Given the description of an element on the screen output the (x, y) to click on. 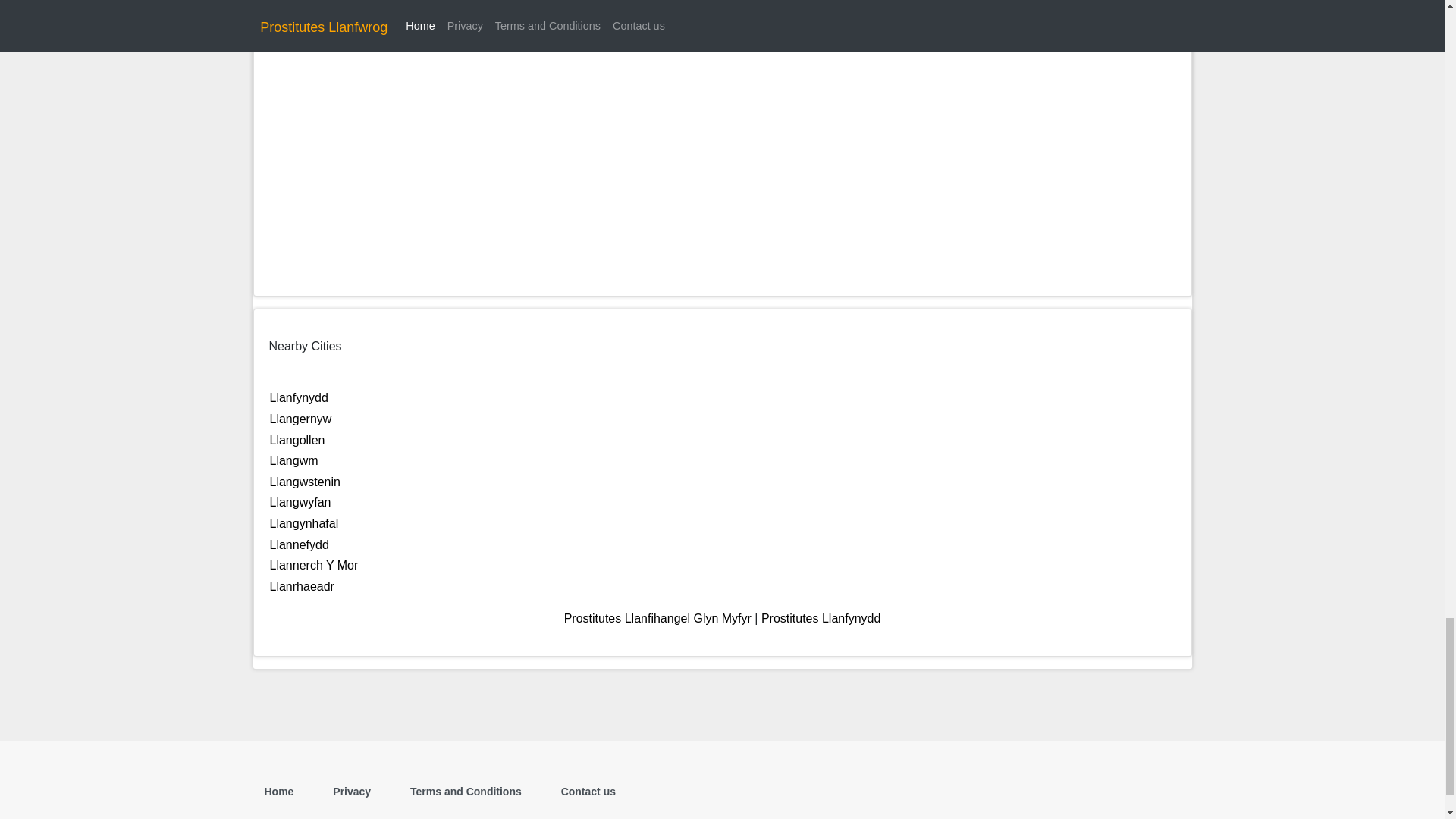
Llanrhaeadr (301, 585)
Llangwstenin (304, 481)
Prostitutes Llanfihangel Glyn Myfyr (657, 617)
Llanfynydd (299, 397)
Llangwyfan (300, 502)
Llannerch Y Mor (313, 564)
Llangollen (296, 440)
Llannefydd (299, 544)
Llangwm (293, 460)
Llangynhafal (304, 522)
Prostitutes Llanfynydd (820, 617)
Llangernyw (300, 418)
